Given the description of an element on the screen output the (x, y) to click on. 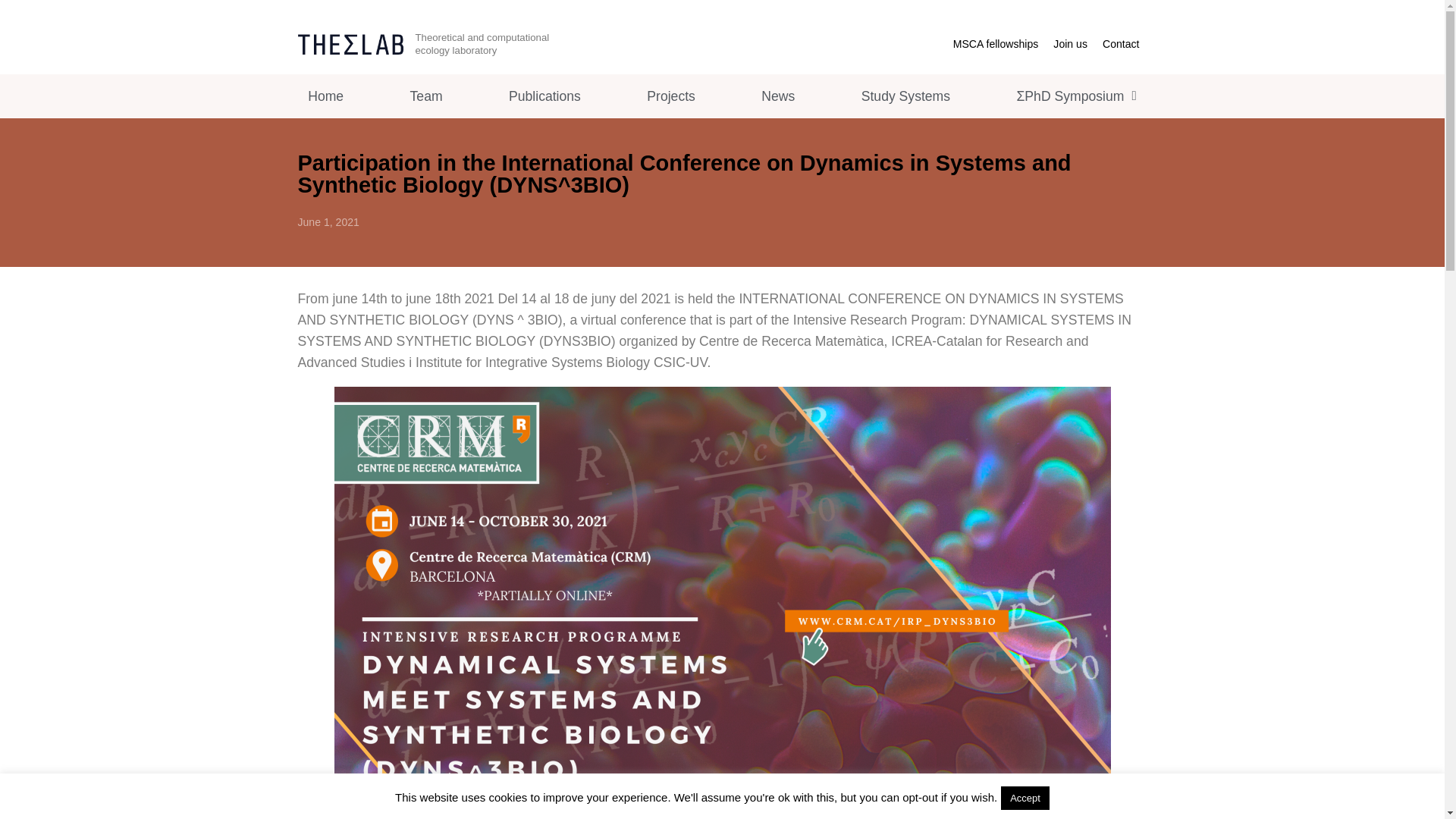
Team (425, 96)
Join us (1069, 43)
Accept (1025, 797)
News (778, 96)
Home (325, 96)
Study Systems (905, 96)
Projects (670, 96)
Contact (1120, 43)
MSCA fellowships (995, 43)
Publications (544, 96)
